Given the description of an element on the screen output the (x, y) to click on. 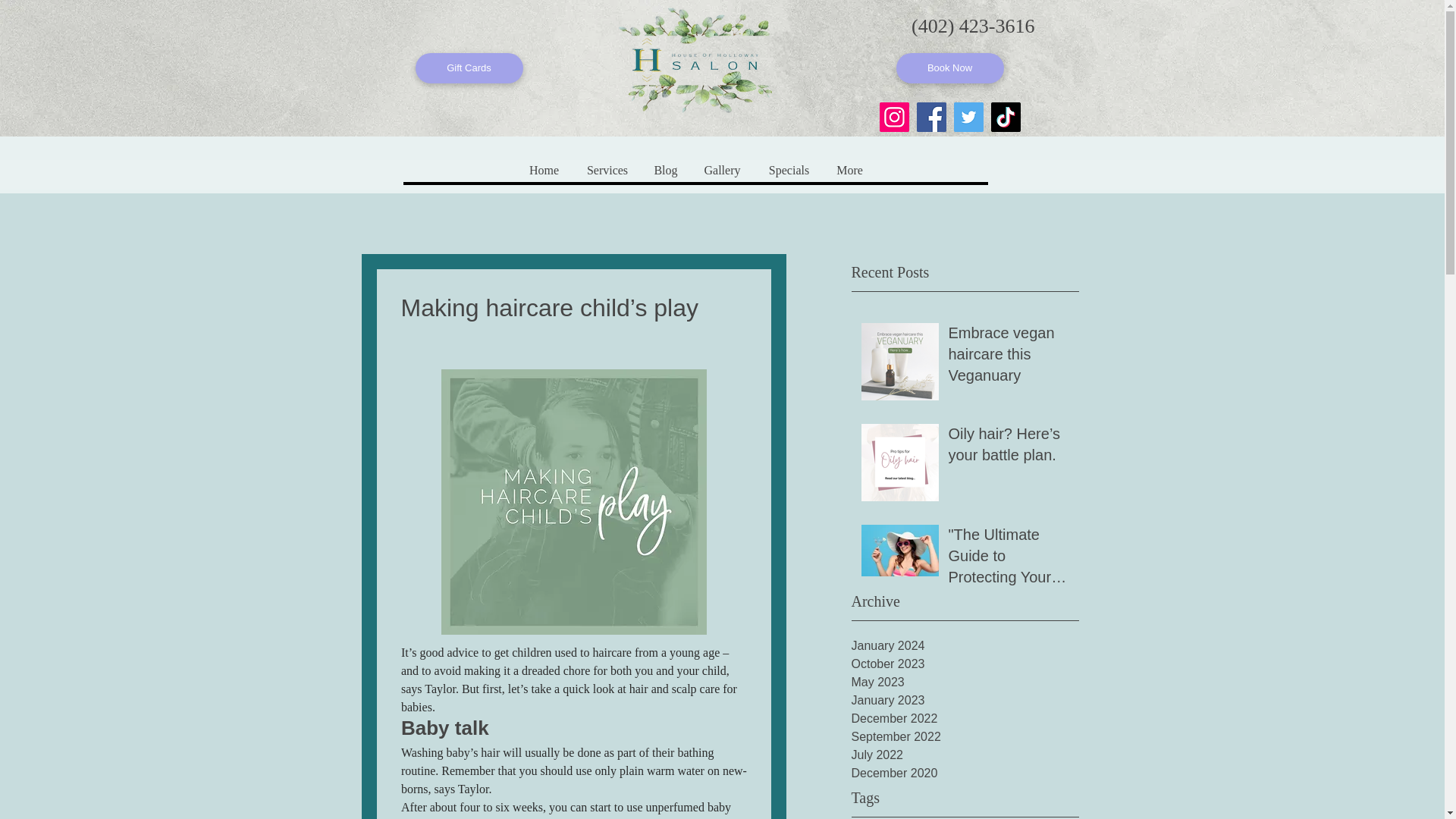
July 2022 (964, 755)
Blog (665, 169)
Embrace vegan haircare this Veganuary (1007, 357)
January 2023 (964, 700)
Services (607, 169)
Specials (788, 169)
December 2020 (964, 773)
Home (543, 169)
Gallery (721, 169)
Book Now (950, 68)
September 2022 (964, 737)
October 2023 (964, 664)
December 2022 (964, 719)
Gift Cards (468, 68)
